Given the description of an element on the screen output the (x, y) to click on. 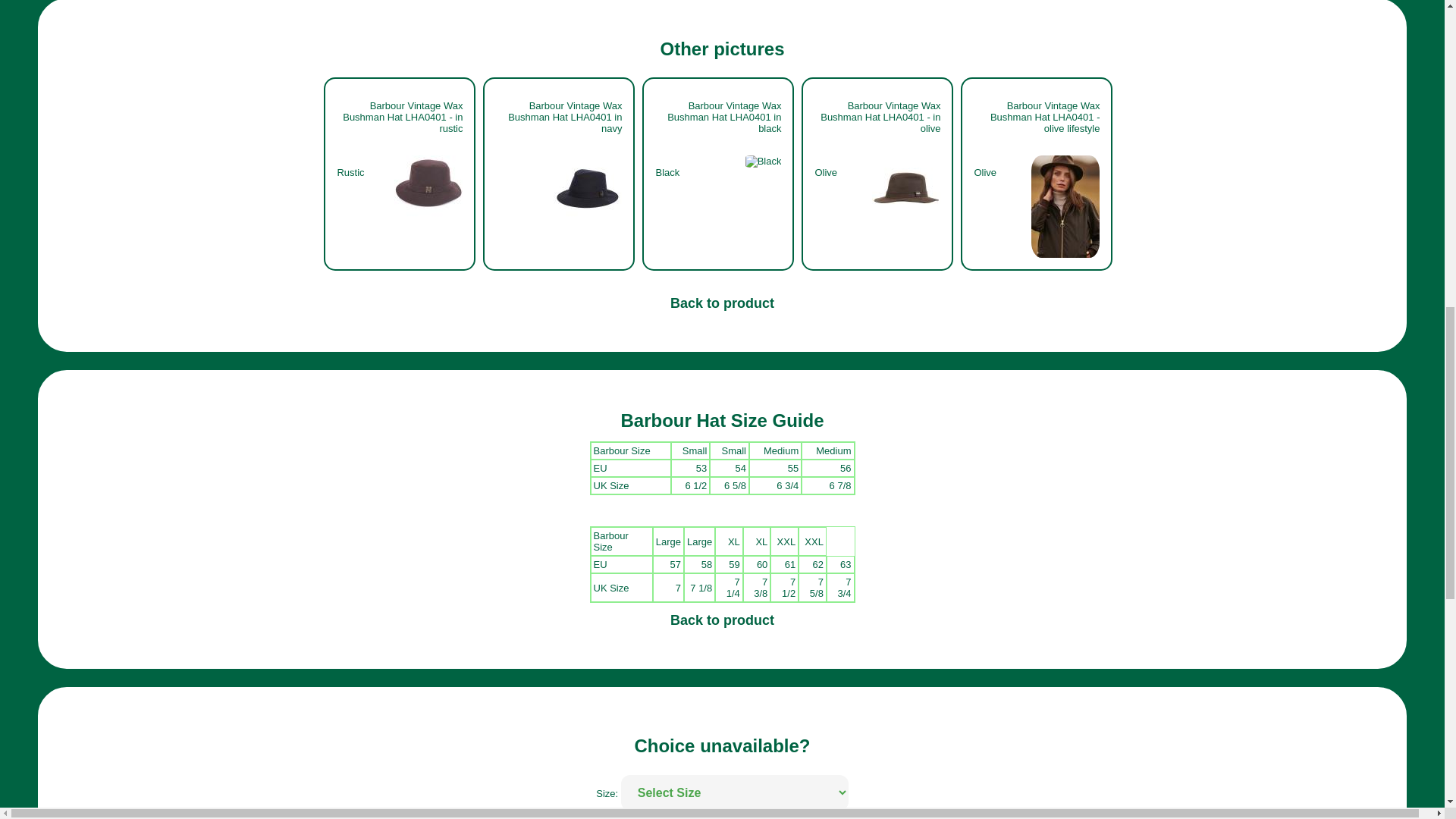
Back to product (721, 621)
Back to product (721, 304)
